Given the description of an element on the screen output the (x, y) to click on. 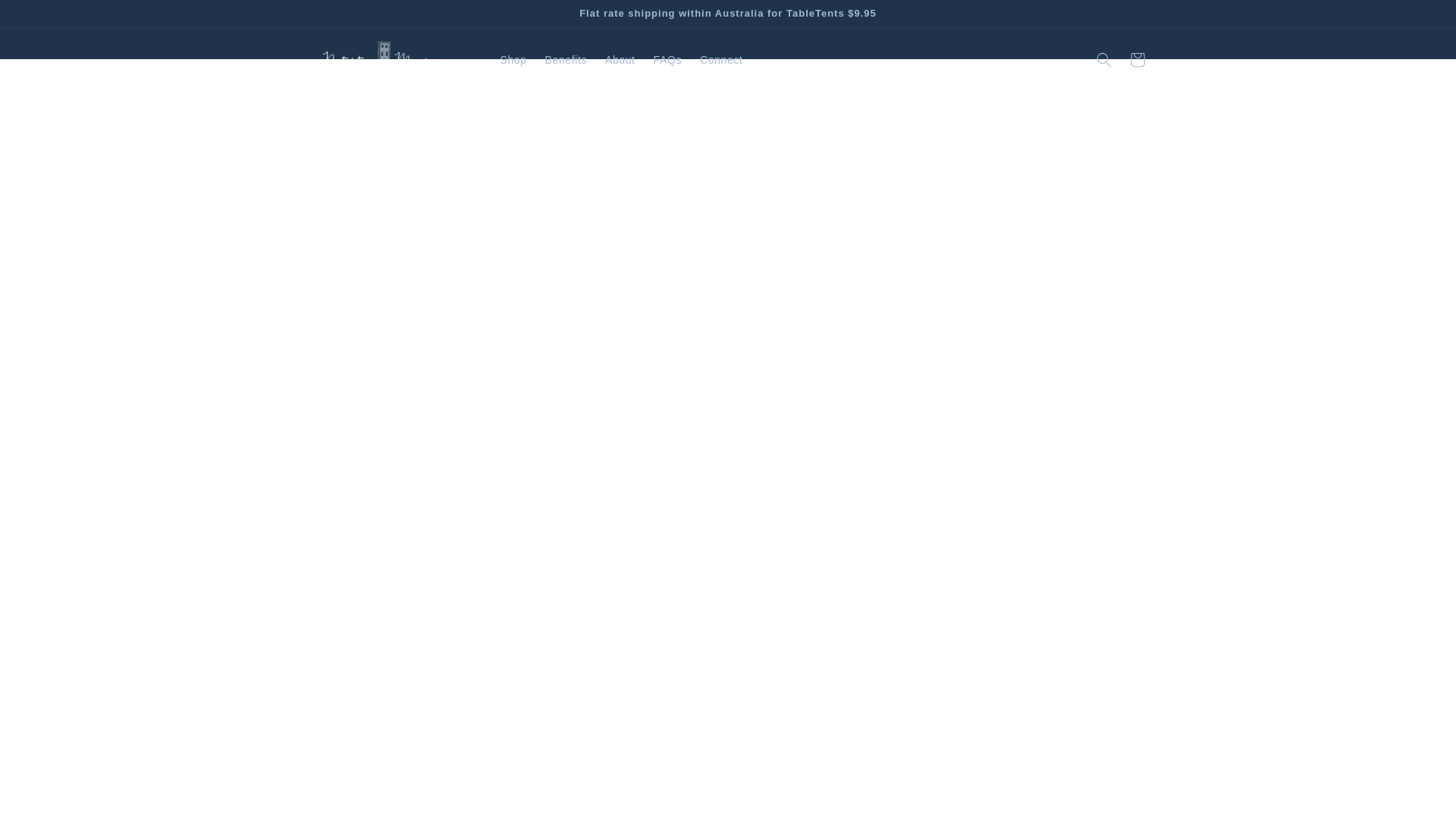
Benefits (565, 60)
Shop (513, 60)
FAQs (667, 60)
Skip to content (45, 16)
Cart (1137, 59)
Connect (720, 60)
About (620, 60)
